Given the description of an element on the screen output the (x, y) to click on. 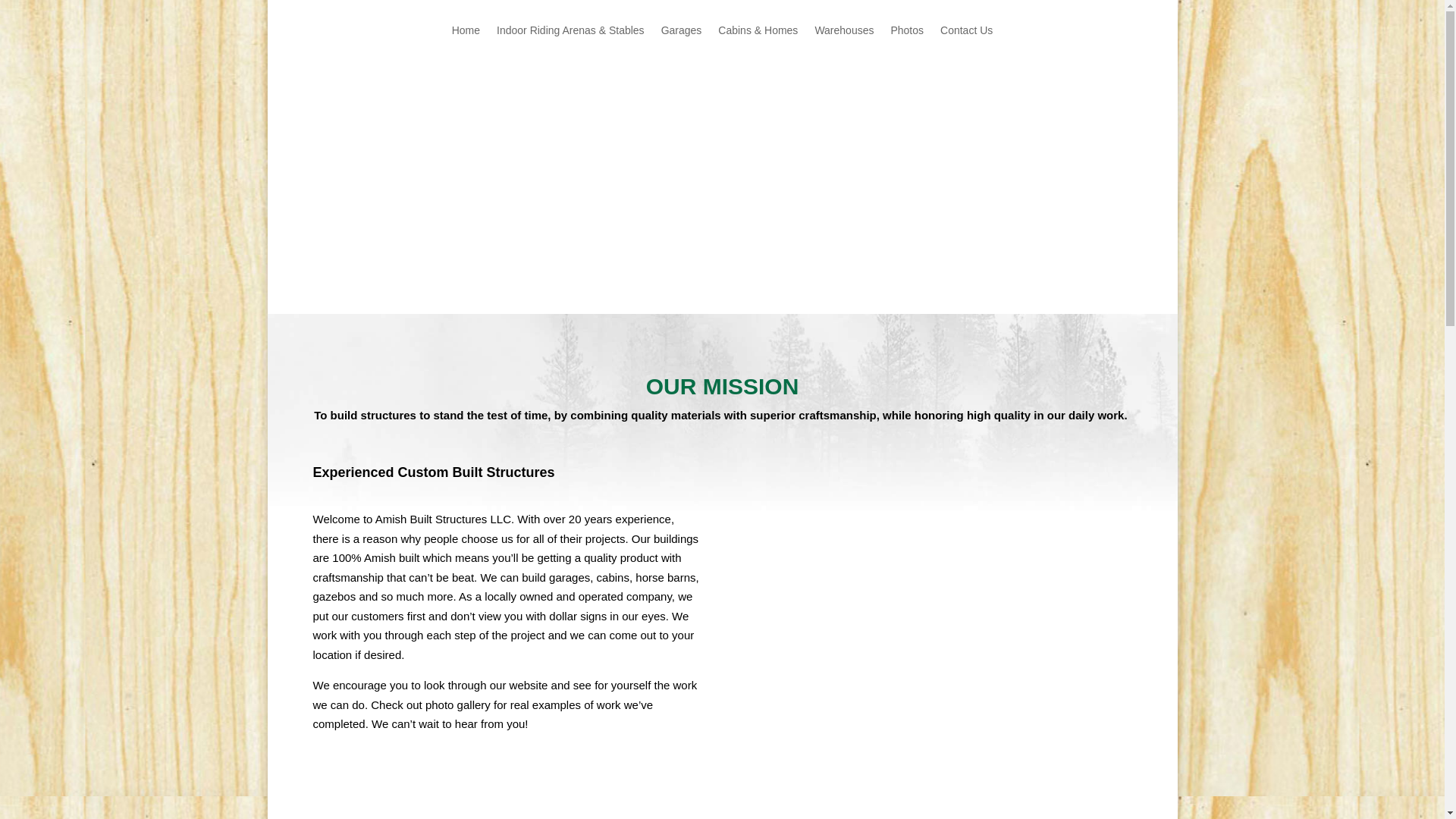
Photos (906, 41)
Contact Us (966, 41)
Garages (681, 41)
Warehouses (843, 41)
